Given the description of an element on the screen output the (x, y) to click on. 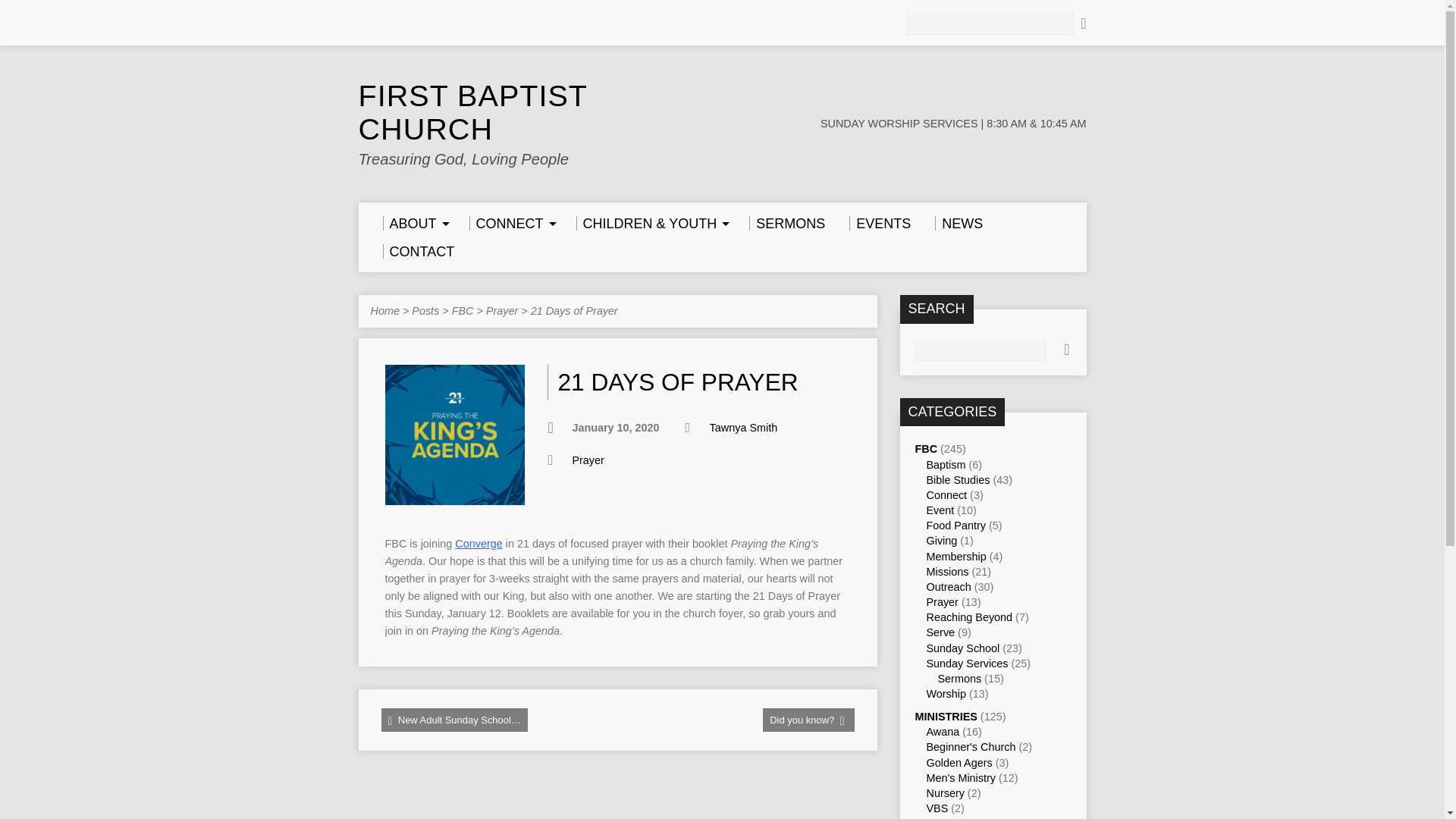
EVENTS (879, 223)
CONNECT (509, 223)
Prayer (502, 310)
Tawnya Smith (743, 427)
Listen to Sermons (787, 223)
FBC (925, 449)
ABOUT (412, 223)
Converge (478, 543)
Baptism (946, 464)
SERMONS (787, 223)
